Given the description of an element on the screen output the (x, y) to click on. 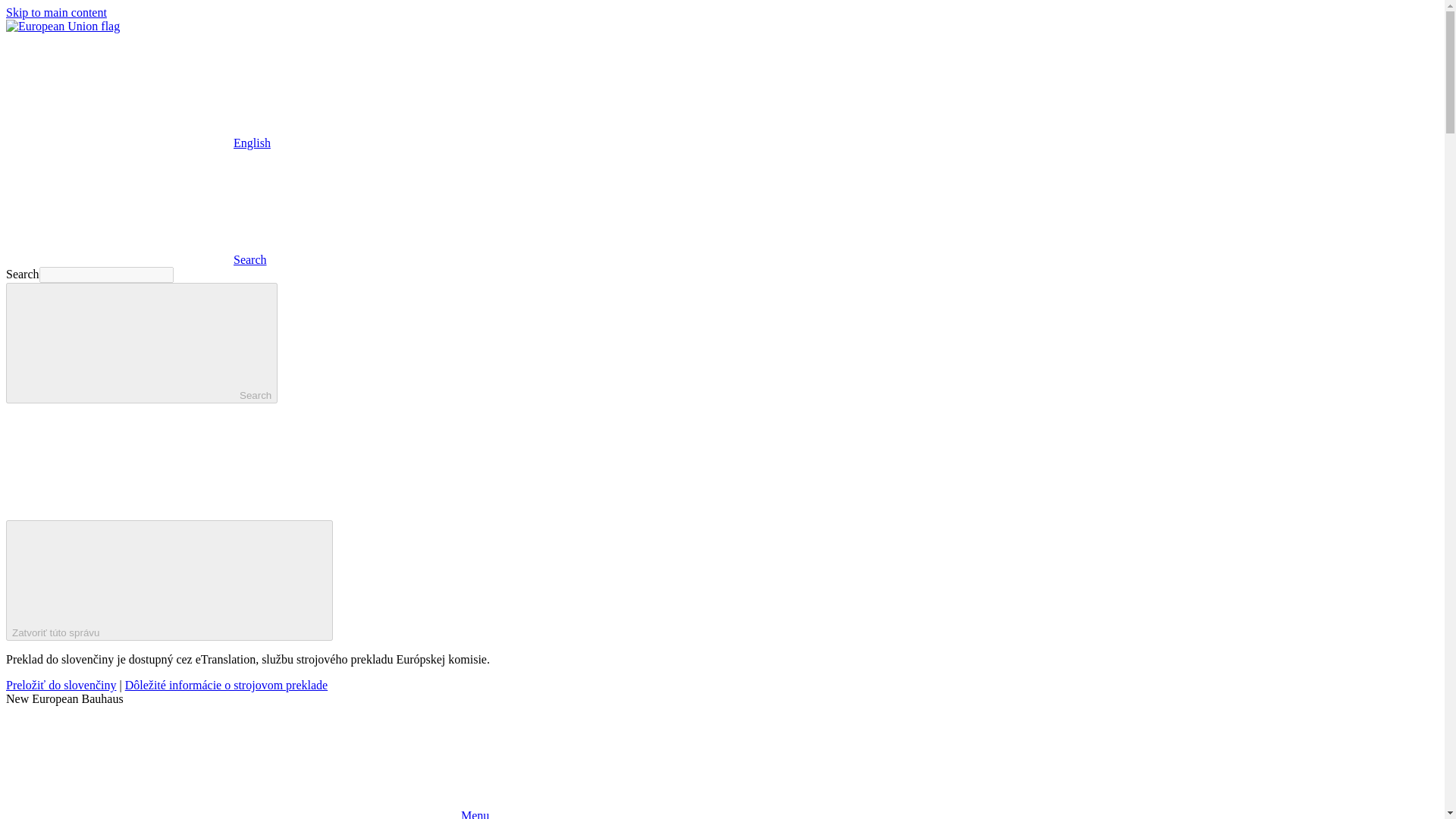
European Union (62, 25)
EnglishEnglish (137, 142)
Menu (247, 814)
Search (135, 259)
Skip to main content (55, 11)
Search (141, 342)
English (118, 90)
